Given the description of an element on the screen output the (x, y) to click on. 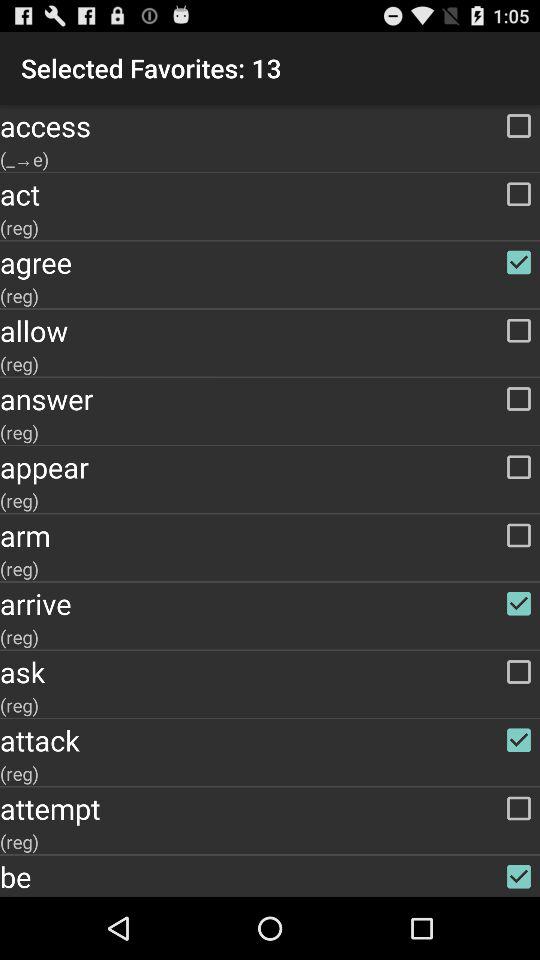
turn off the item above the (reg)  app (270, 740)
